Given the description of an element on the screen output the (x, y) to click on. 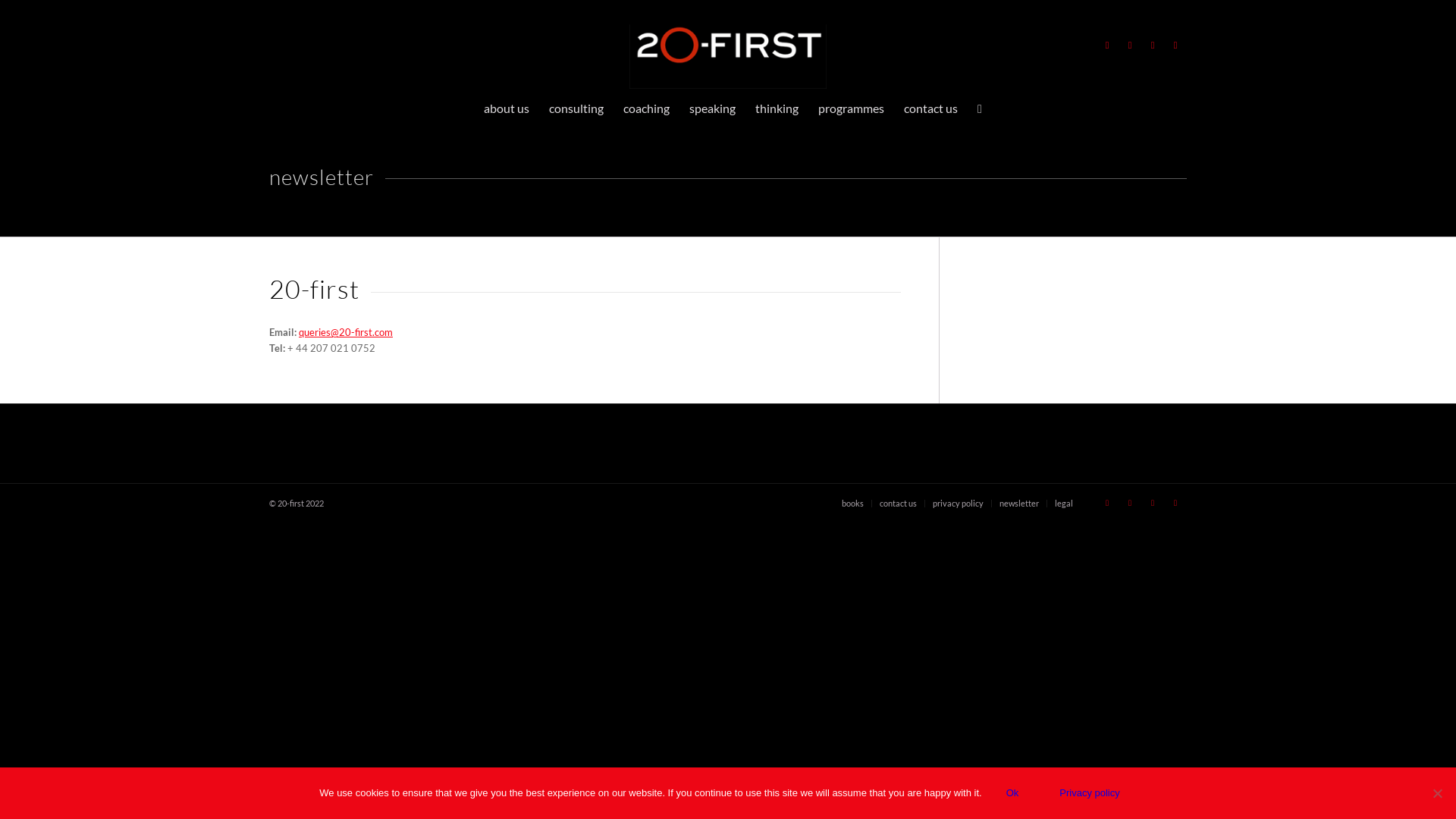
Twitter Element type: hover (1106, 44)
Twitter Element type: hover (1106, 502)
speaking Element type: text (712, 108)
Ok Element type: text (1012, 792)
programmes Element type: text (851, 108)
Youtube Element type: hover (1175, 44)
legal Element type: text (1063, 503)
No Element type: hover (1436, 792)
newsletter Element type: text (1018, 503)
books Element type: text (852, 503)
LinkedIn Element type: hover (1152, 502)
thinking Element type: text (776, 108)
contact us Element type: text (897, 503)
contact us Element type: text (930, 108)
LinkedIn Element type: hover (1152, 44)
Facebook Element type: hover (1129, 44)
Youtube Element type: hover (1175, 502)
queries@20-first.com Element type: text (345, 332)
about us Element type: text (506, 108)
Facebook Element type: hover (1129, 502)
privacy policy Element type: text (957, 503)
consulting Element type: text (576, 108)
coaching Element type: text (646, 108)
Privacy policy Element type: text (1088, 792)
